Given the description of an element on the screen output the (x, y) to click on. 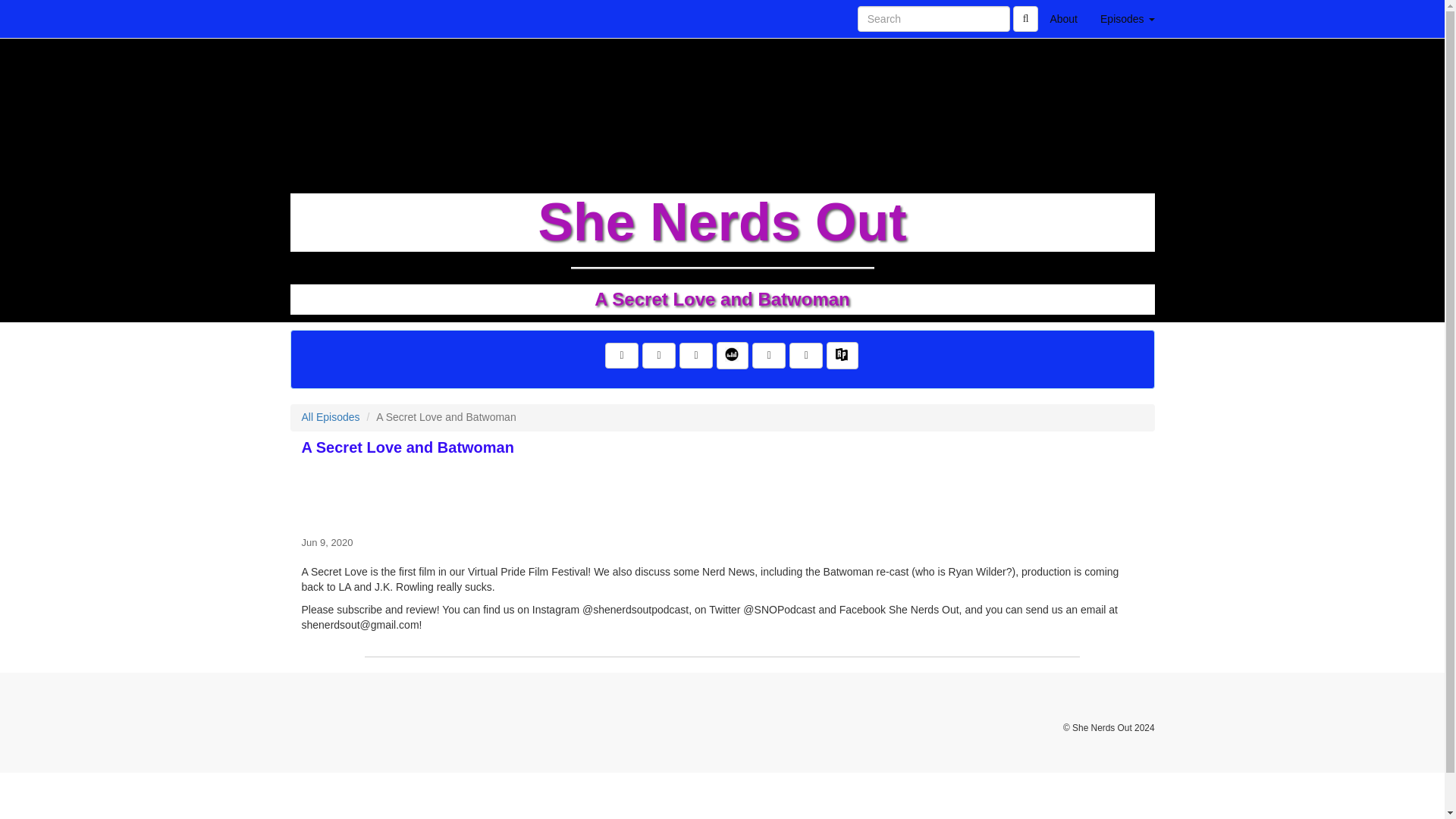
A Secret Love and Batwoman (721, 493)
Home Page (320, 18)
About (1063, 18)
Episodes (1127, 18)
